Given the description of an element on the screen output the (x, y) to click on. 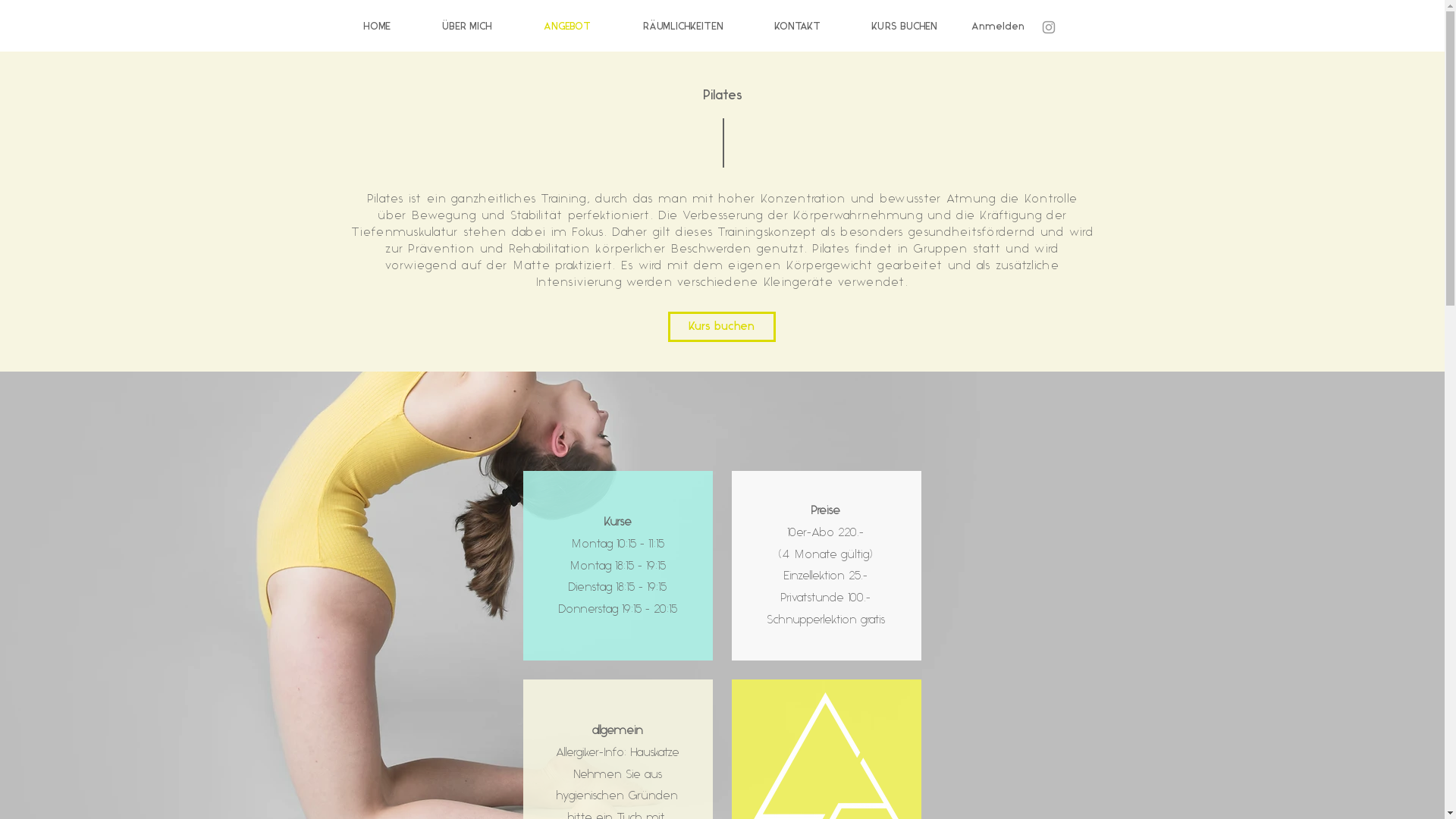
Anmelden Element type: text (997, 27)
KURS BUCHEN Element type: text (917, 26)
Kurs buchen Element type: text (721, 326)
KONTAKT Element type: text (810, 26)
HOME Element type: text (390, 26)
ANGEBOT Element type: text (581, 26)
